Given the description of an element on the screen output the (x, y) to click on. 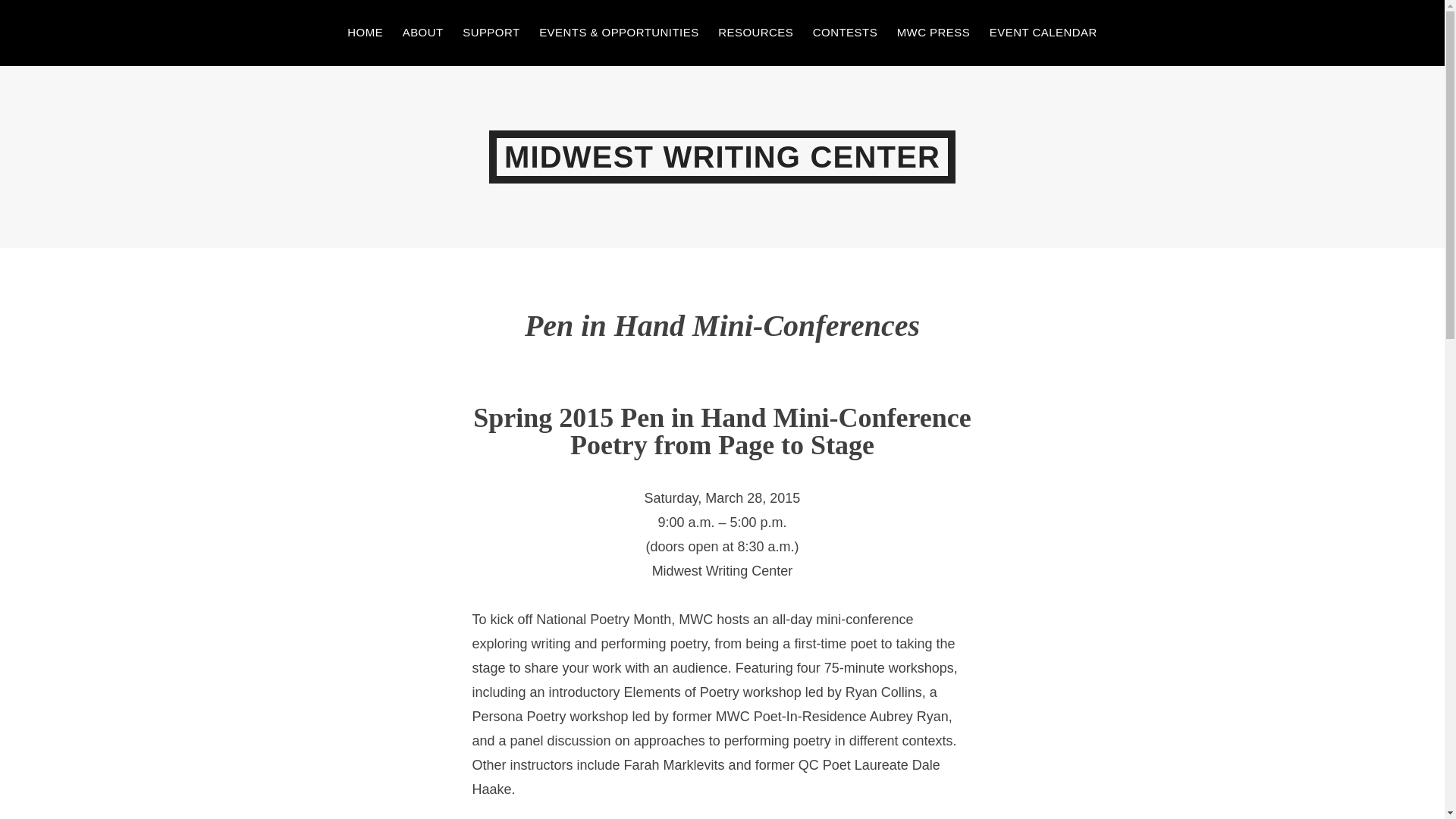
CONTESTS (844, 32)
ABOUT (423, 32)
RESOURCES (755, 32)
SUPPORT (491, 32)
